Given the description of an element on the screen output the (x, y) to click on. 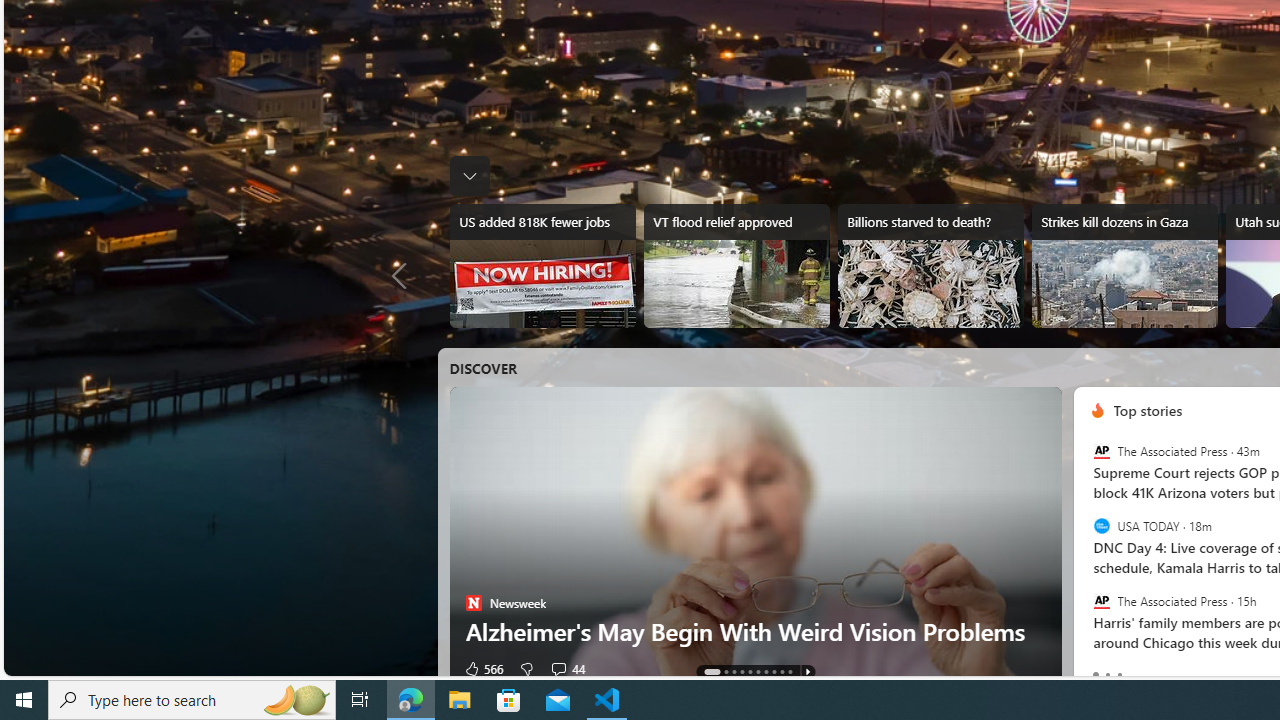
tab-2 (1119, 674)
AutomationID: tab-7 (774, 671)
AutomationID: tab-9 (789, 671)
Billions starved to death? (930, 265)
AutomationID: tab-3 (742, 671)
To get missing image descriptions, open the context menu. (1097, 411)
previous (1083, 538)
AutomationID: tab-4 (749, 671)
AutomationID: tab-2 (733, 671)
Strikes kill dozens in Gaza (1124, 265)
tab-0 (1095, 674)
AutomationID: tab-6 (765, 671)
US added 818K fewer jobs (542, 265)
